Given the description of an element on the screen output the (x, y) to click on. 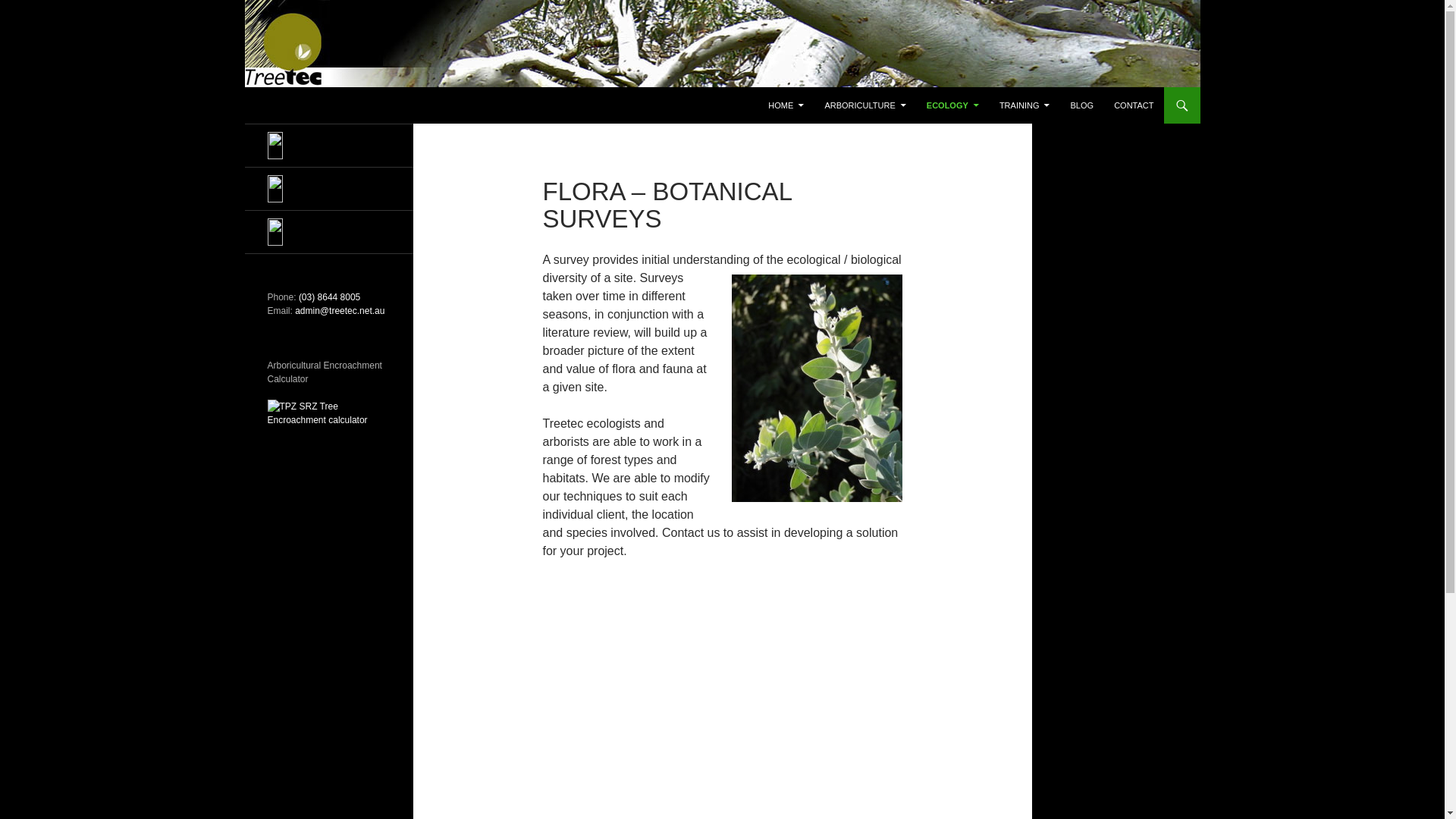
ARBORICULTURE (864, 104)
HOME (785, 104)
TREETEC (409, 104)
